Given the description of an element on the screen output the (x, y) to click on. 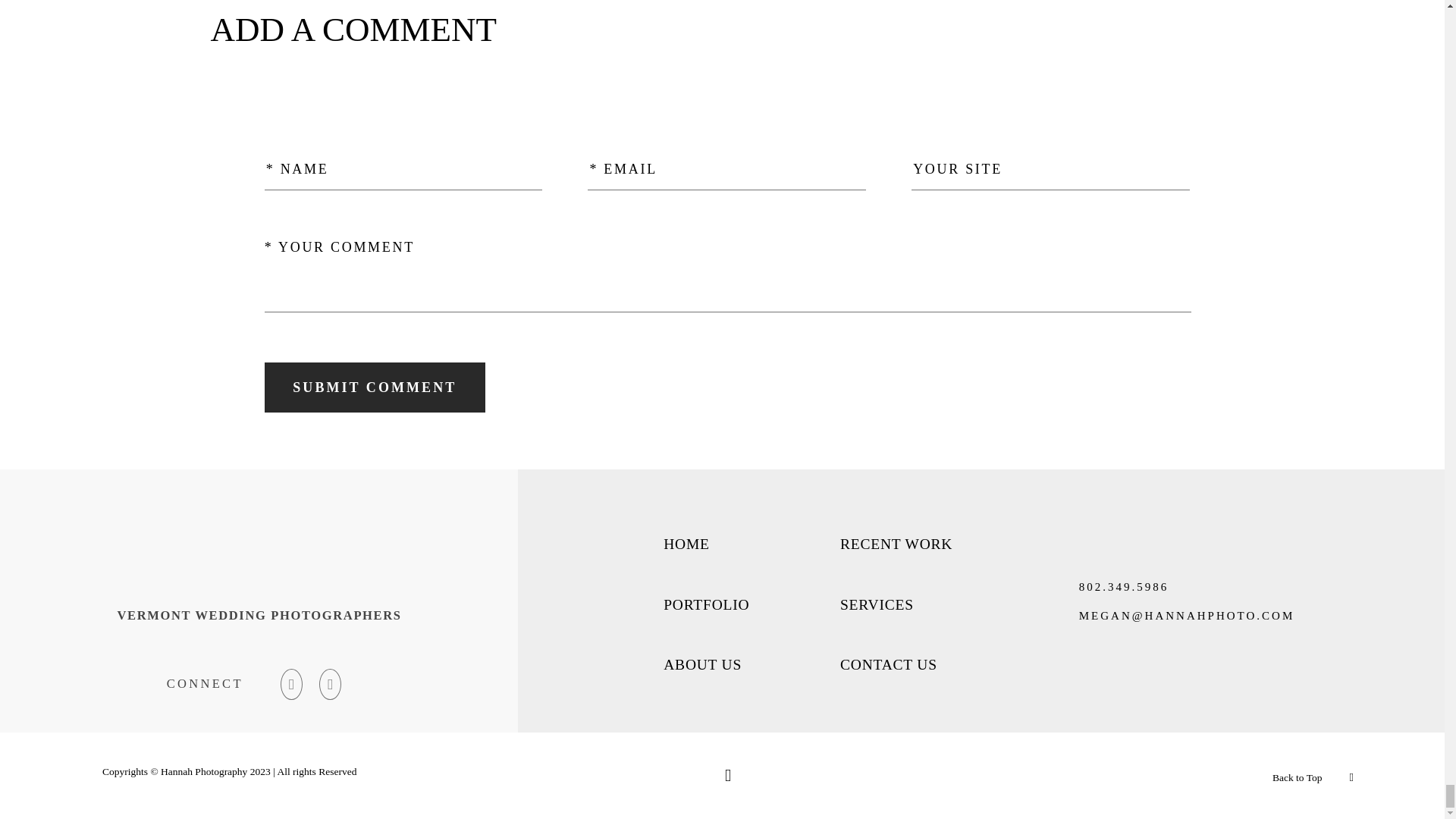
HOME (686, 544)
PORTFOLIO (706, 604)
ABOUT US (702, 664)
Submit Comment (374, 387)
Back to Top (1313, 775)
Back to Top (1297, 778)
Submit Comment (374, 387)
